Given the description of an element on the screen output the (x, y) to click on. 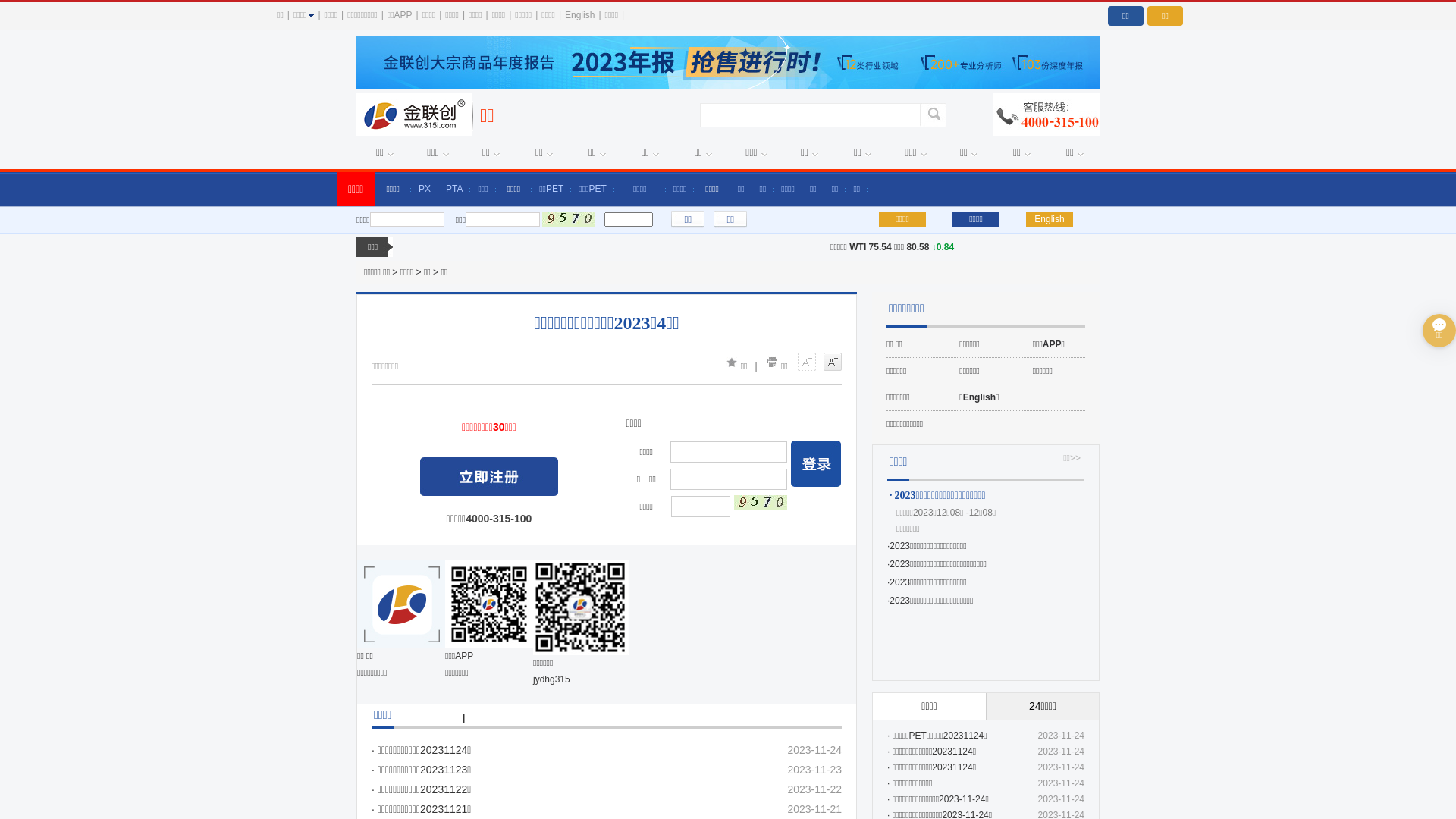
PX Element type: text (424, 188)
English Element type: text (1049, 219)
| Element type: text (463, 717)
  Element type: text (489, 476)
PTA Element type: text (454, 188)
English Element type: text (579, 14)
